Given the description of an element on the screen output the (x, y) to click on. 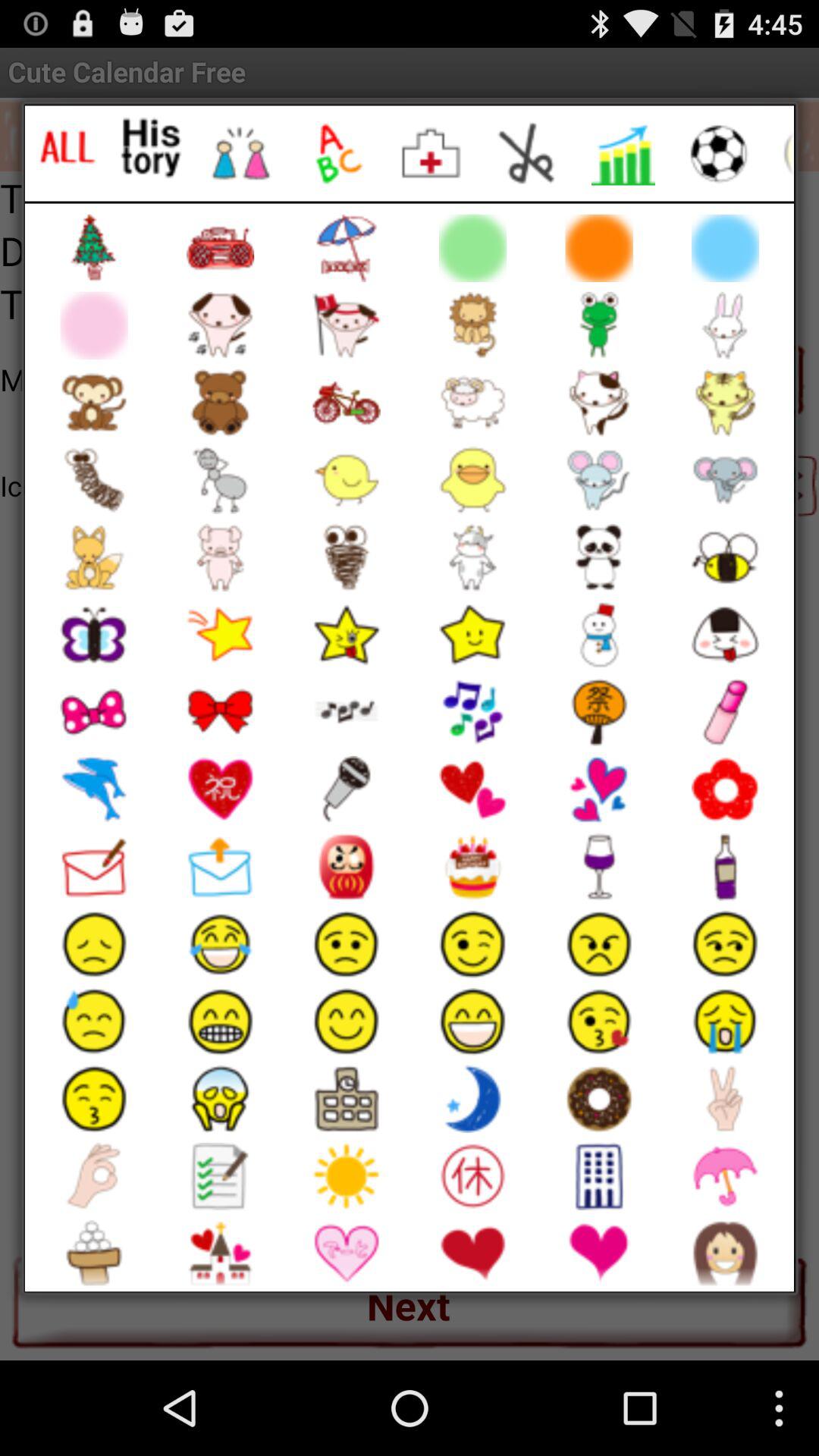
see all (67, 147)
